Given the description of an element on the screen output the (x, y) to click on. 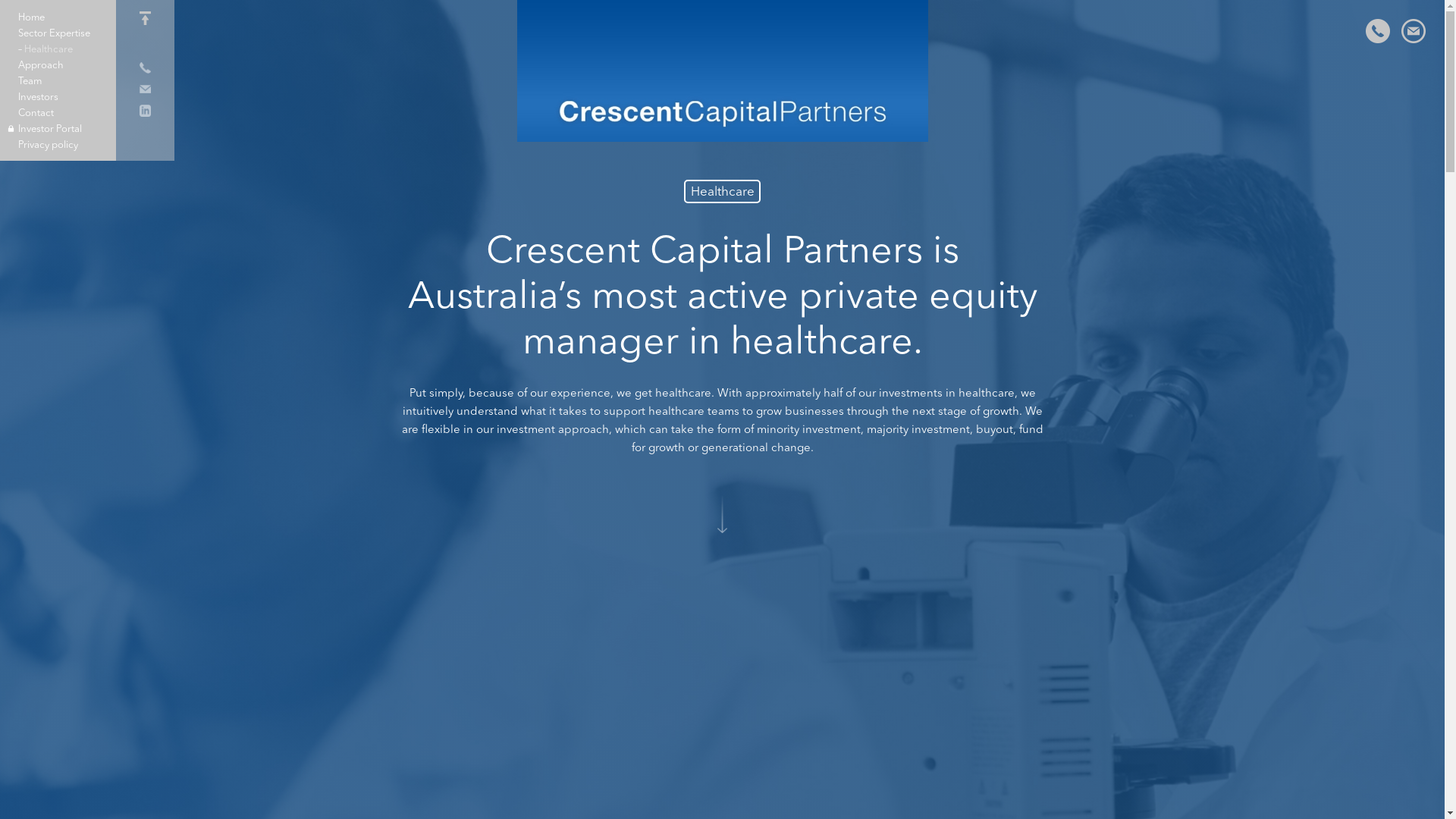
Sector Expertise Element type: text (50, 33)
Investors Element type: text (50, 97)
Privacy policy Element type: text (50, 145)
Team Element type: text (50, 81)
Approach Element type: text (50, 65)
Contact Element type: text (50, 113)
Home Element type: text (50, 17)
Investor Portal Element type: text (50, 129)
